Given the description of an element on the screen output the (x, y) to click on. 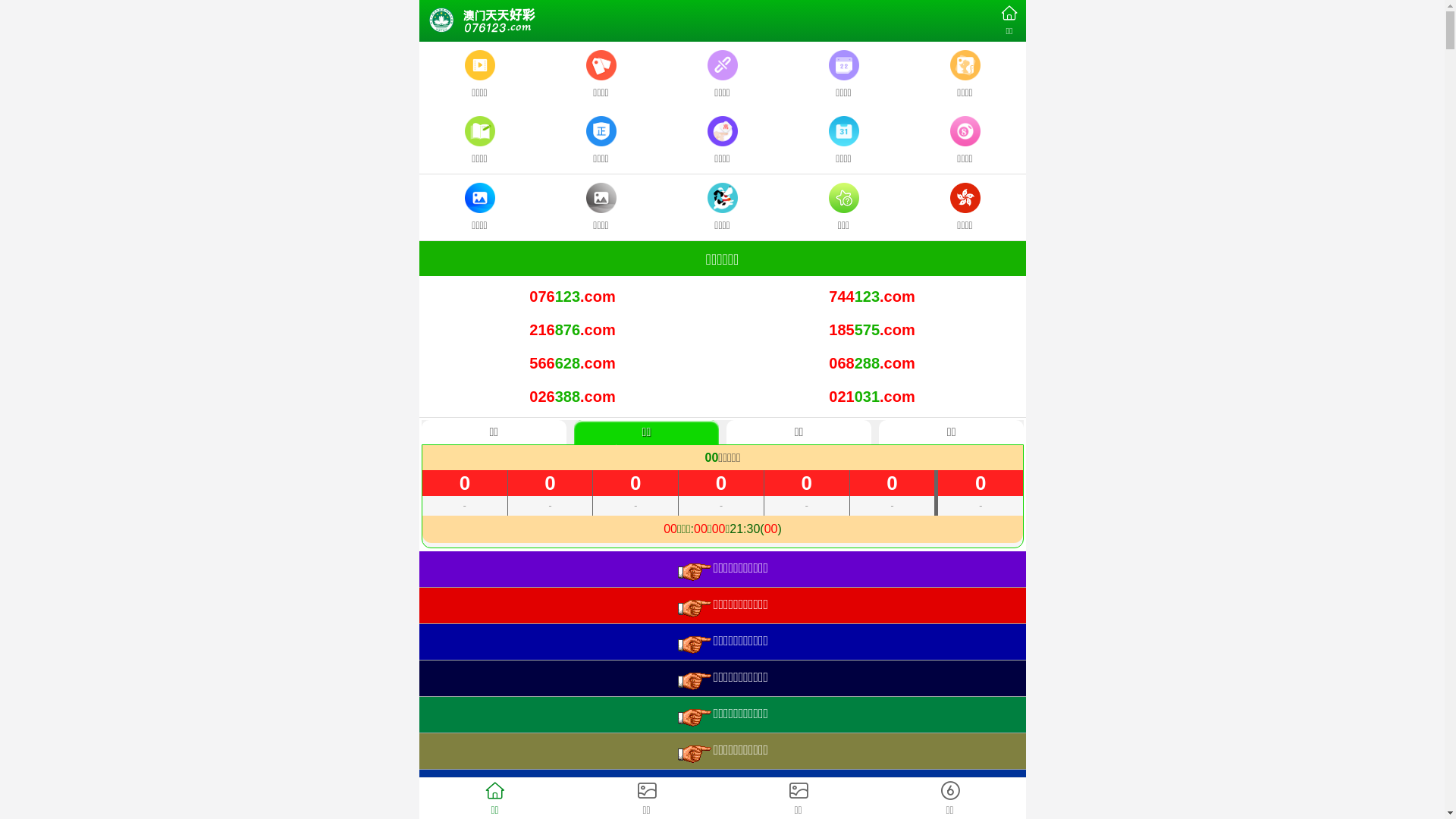
185575.com Element type: text (871, 330)
068288.com Element type: text (871, 363)
216876.com Element type: text (572, 330)
026388.com Element type: text (572, 396)
566628.com Element type: text (572, 363)
021031.com Element type: text (871, 396)
076123.com Element type: text (572, 296)
744123.com Element type: text (871, 296)
